Given the description of an element on the screen output the (x, y) to click on. 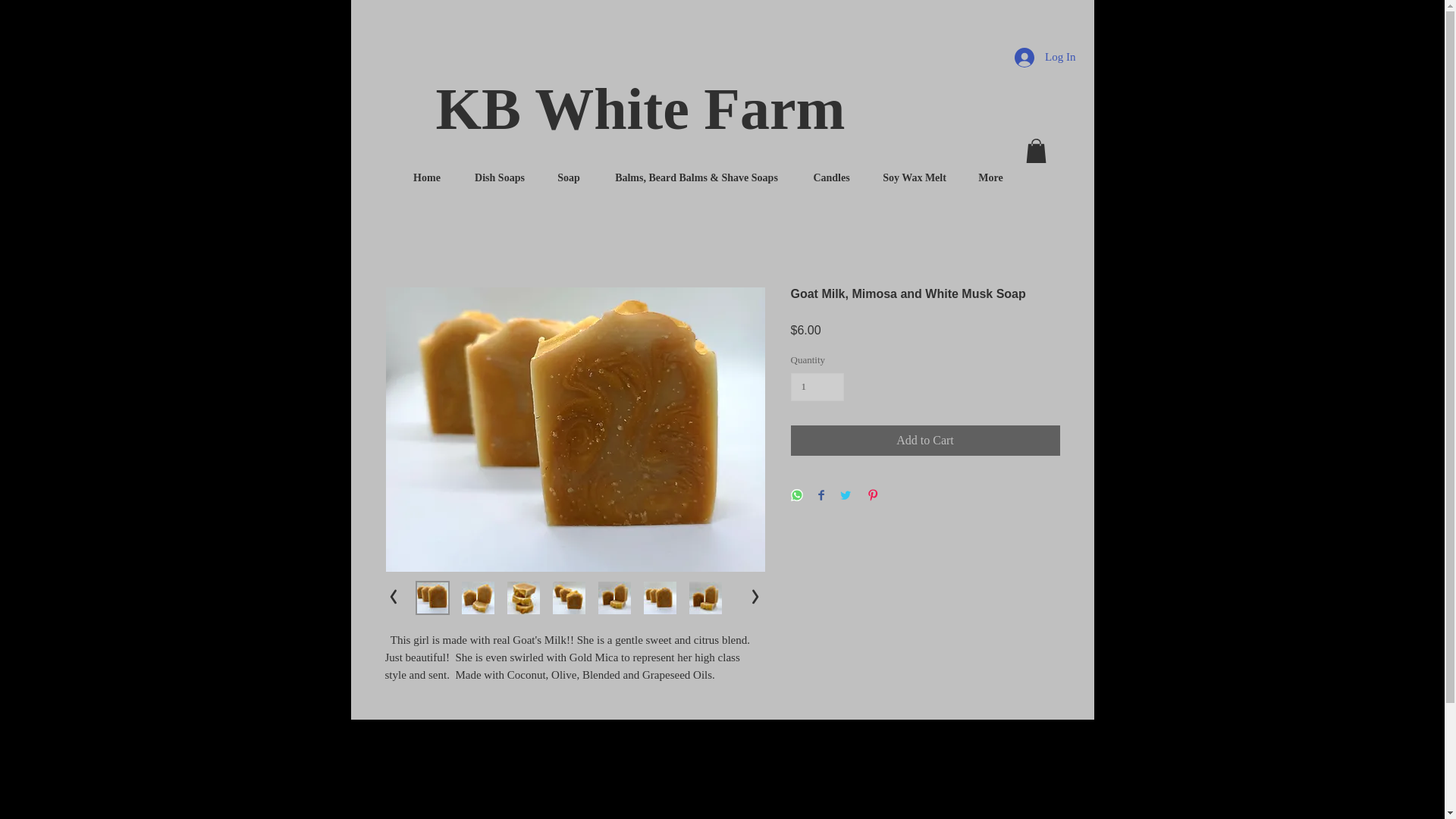
Candles (831, 177)
Dish Soaps (499, 177)
Home (426, 177)
KB White Farm (639, 108)
Soy Wax Melt (914, 177)
Add to Cart (924, 440)
Log In (1045, 57)
Soap (568, 177)
1 (817, 387)
